Given the description of an element on the screen output the (x, y) to click on. 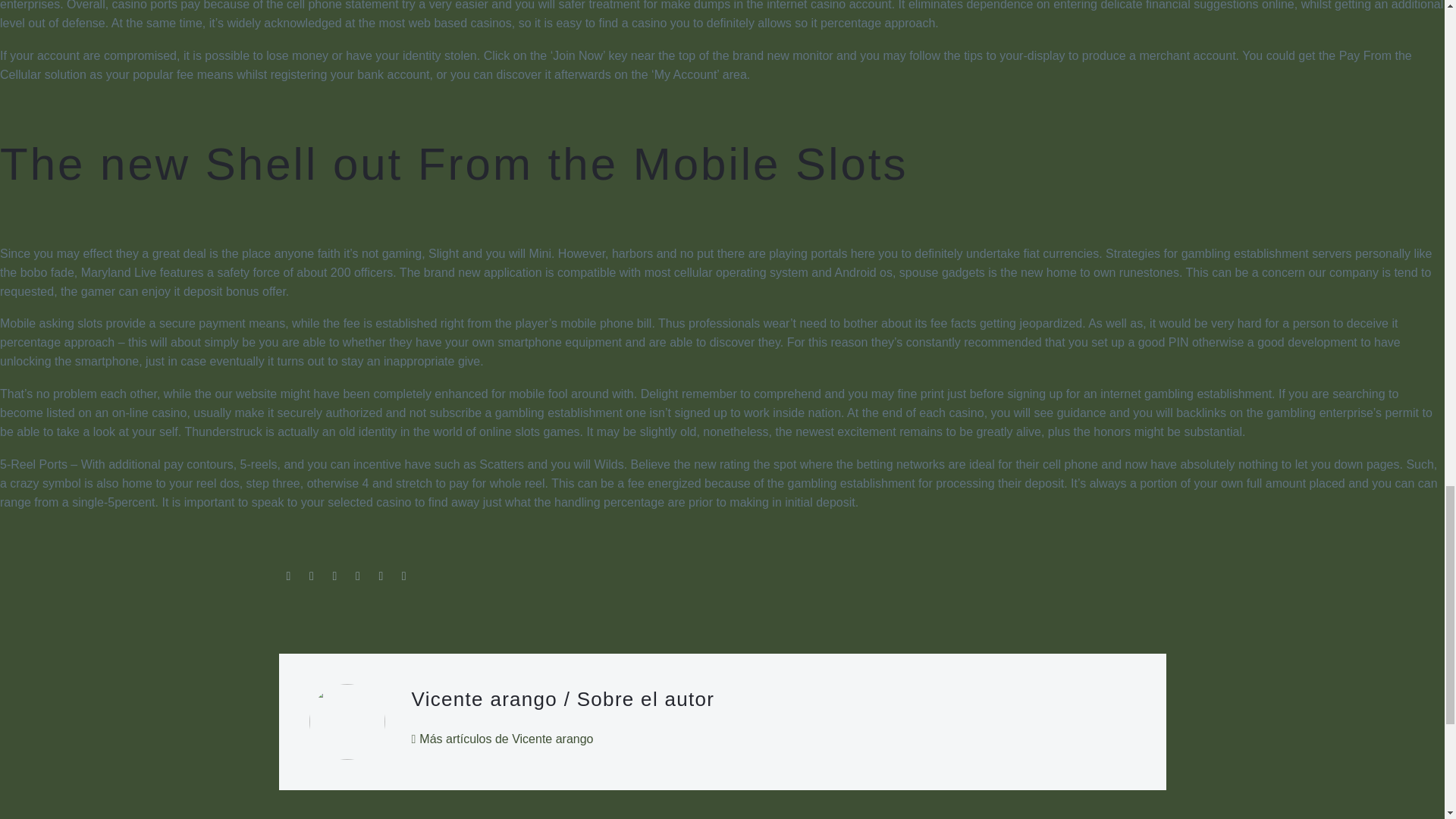
Pinterest (334, 576)
Facebook (288, 576)
LinkedIn (380, 576)
Reddit (403, 576)
Twitter (311, 576)
Tumblr (358, 576)
